Given the description of an element on the screen output the (x, y) to click on. 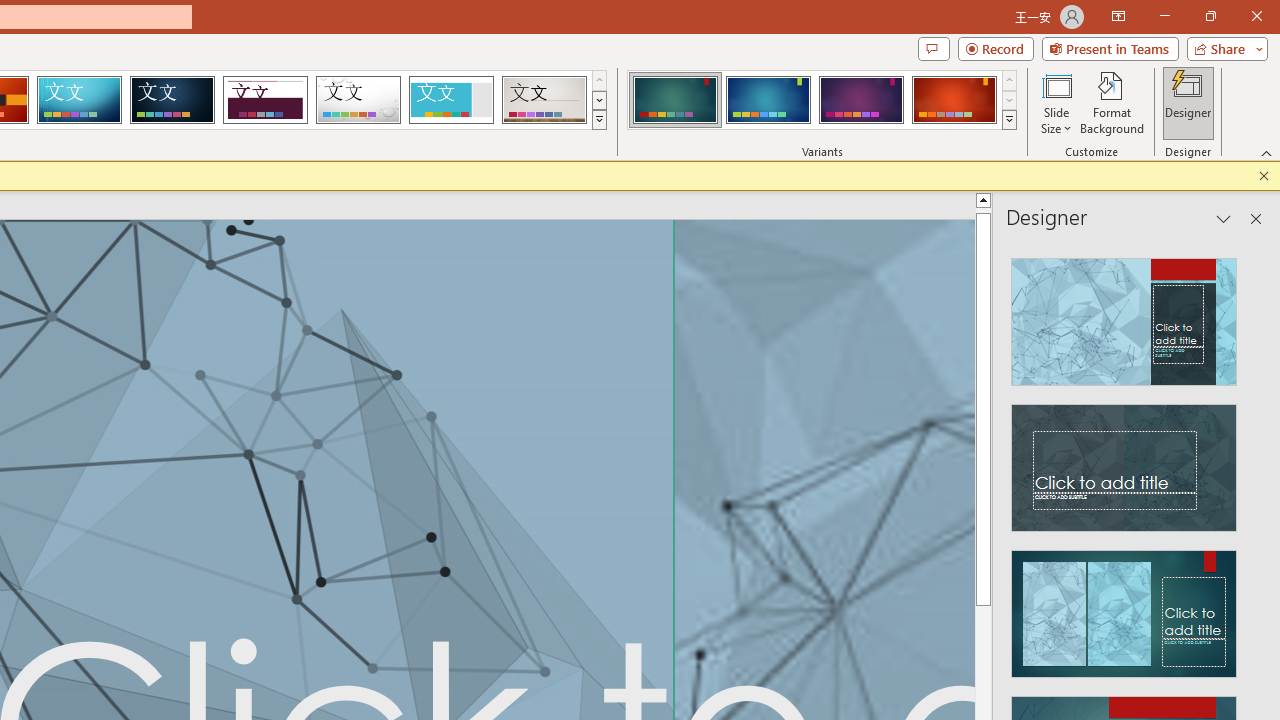
Present in Teams (1109, 48)
Minimize (1164, 16)
Themes (598, 120)
Class: NetUIImage (1009, 119)
